Given the description of an element on the screen output the (x, y) to click on. 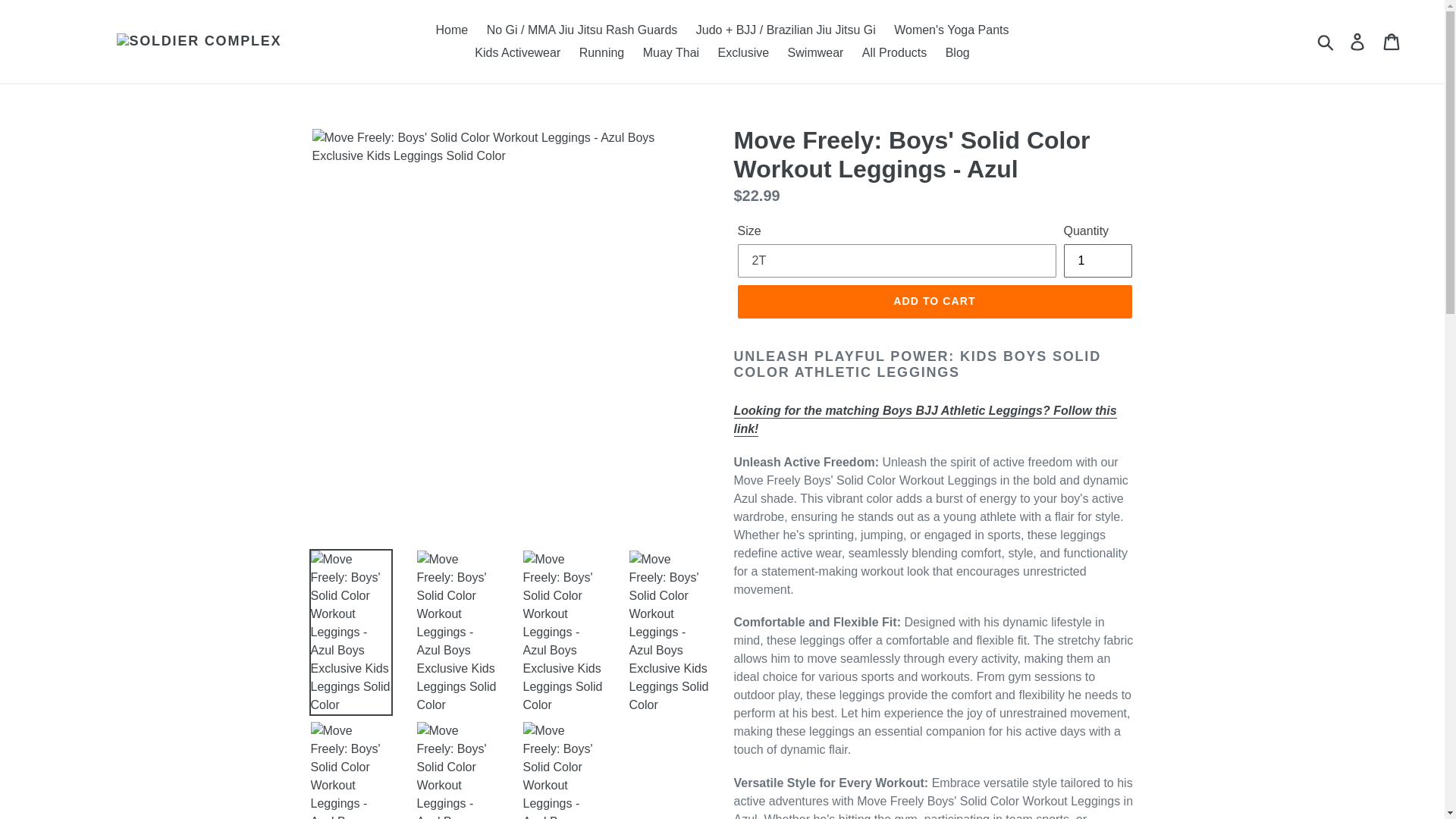
1 (1096, 260)
Swimwear (815, 52)
All Products (894, 52)
Submit (1326, 41)
Running (601, 52)
Kids Activewear (517, 52)
Blog (956, 52)
Home (452, 29)
Cart (1392, 41)
